Given the description of an element on the screen output the (x, y) to click on. 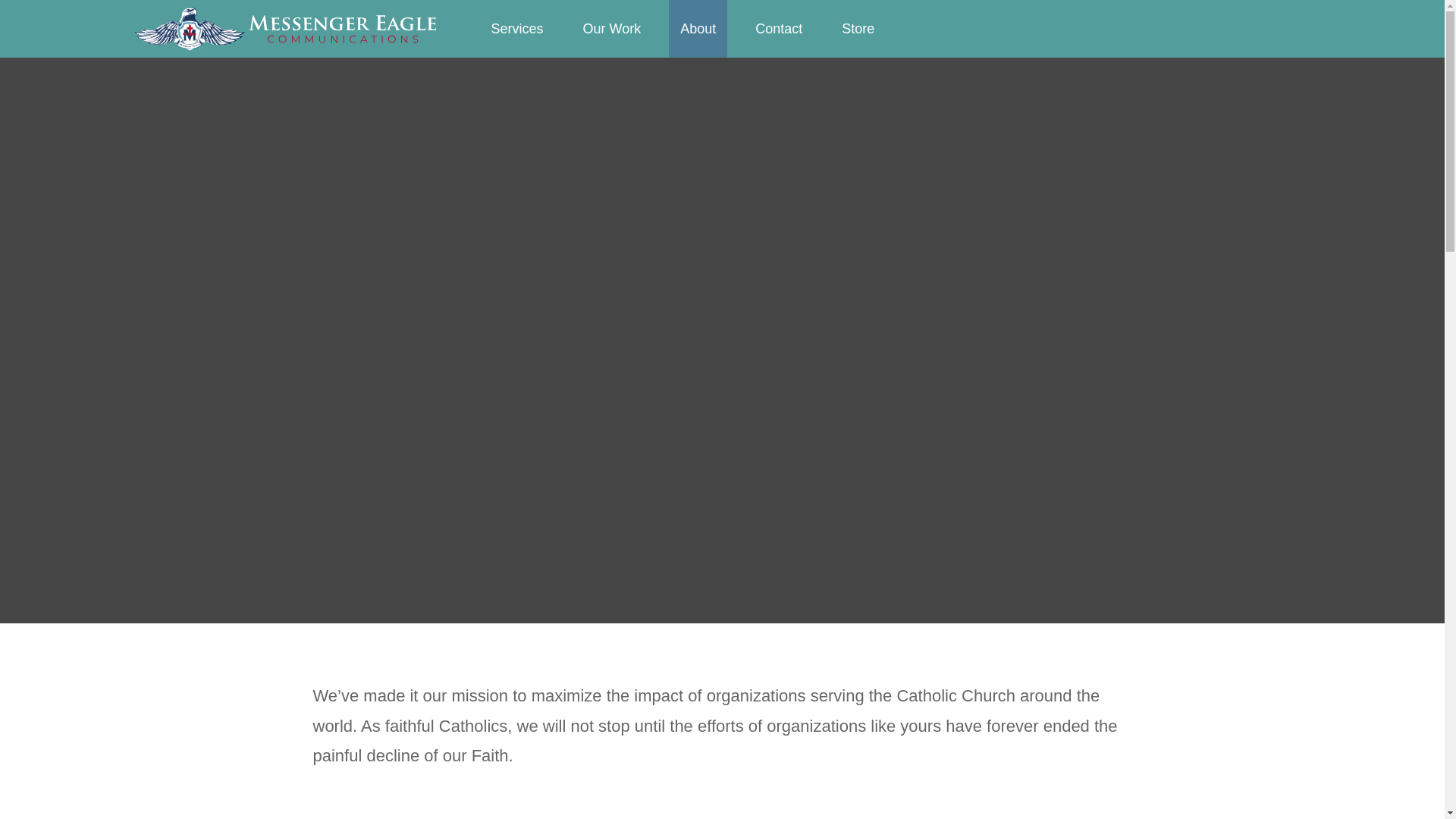
Store (857, 28)
Services (516, 28)
Our Work (612, 28)
About (697, 28)
Contact (778, 28)
